Given the description of an element on the screen output the (x, y) to click on. 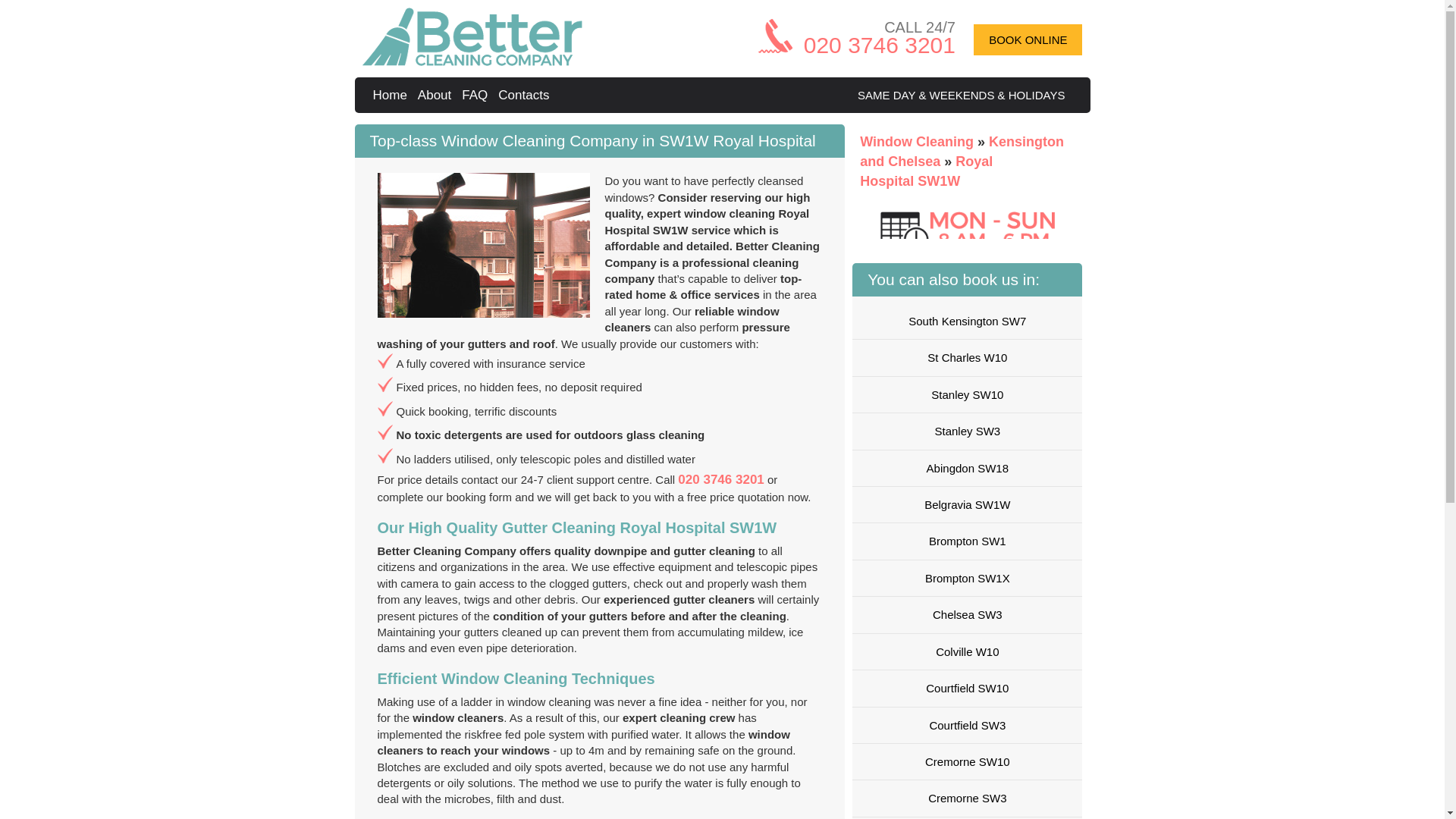
Royal Hospital SW1W (926, 171)
Window Cleaning (918, 141)
Better Cleaning Company (391, 94)
Contacts (525, 94)
020 3746 3201 (879, 45)
BOOK ONLINE (1027, 39)
South Kensington SW7 (966, 321)
Home (391, 94)
FAQ (476, 94)
